Given the description of an element on the screen output the (x, y) to click on. 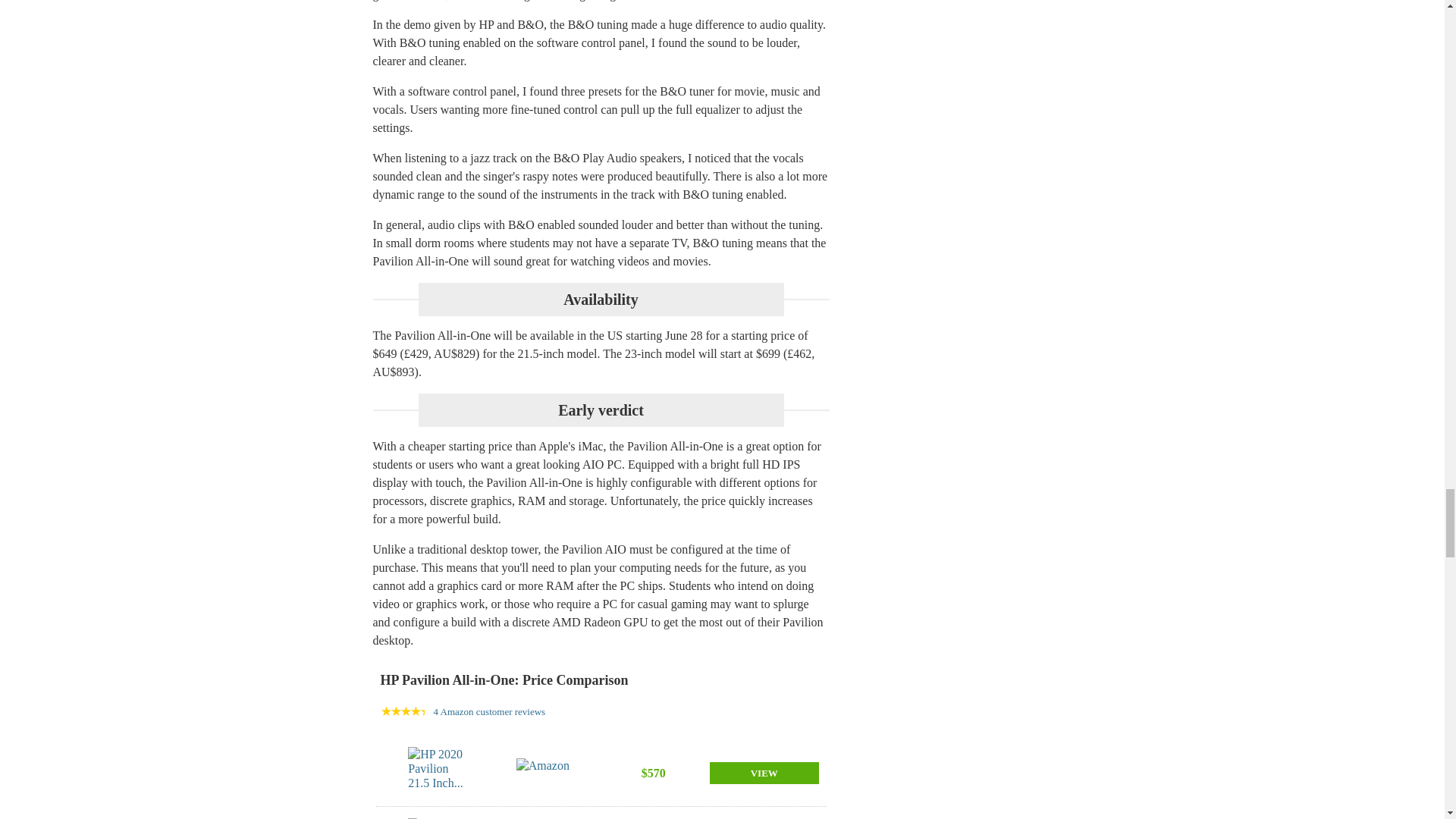
Amazon (546, 773)
HP 2020 Pavilion 21.5 Inch... (437, 773)
HP Pavilion 24-inch... (437, 818)
